Given the description of an element on the screen output the (x, y) to click on. 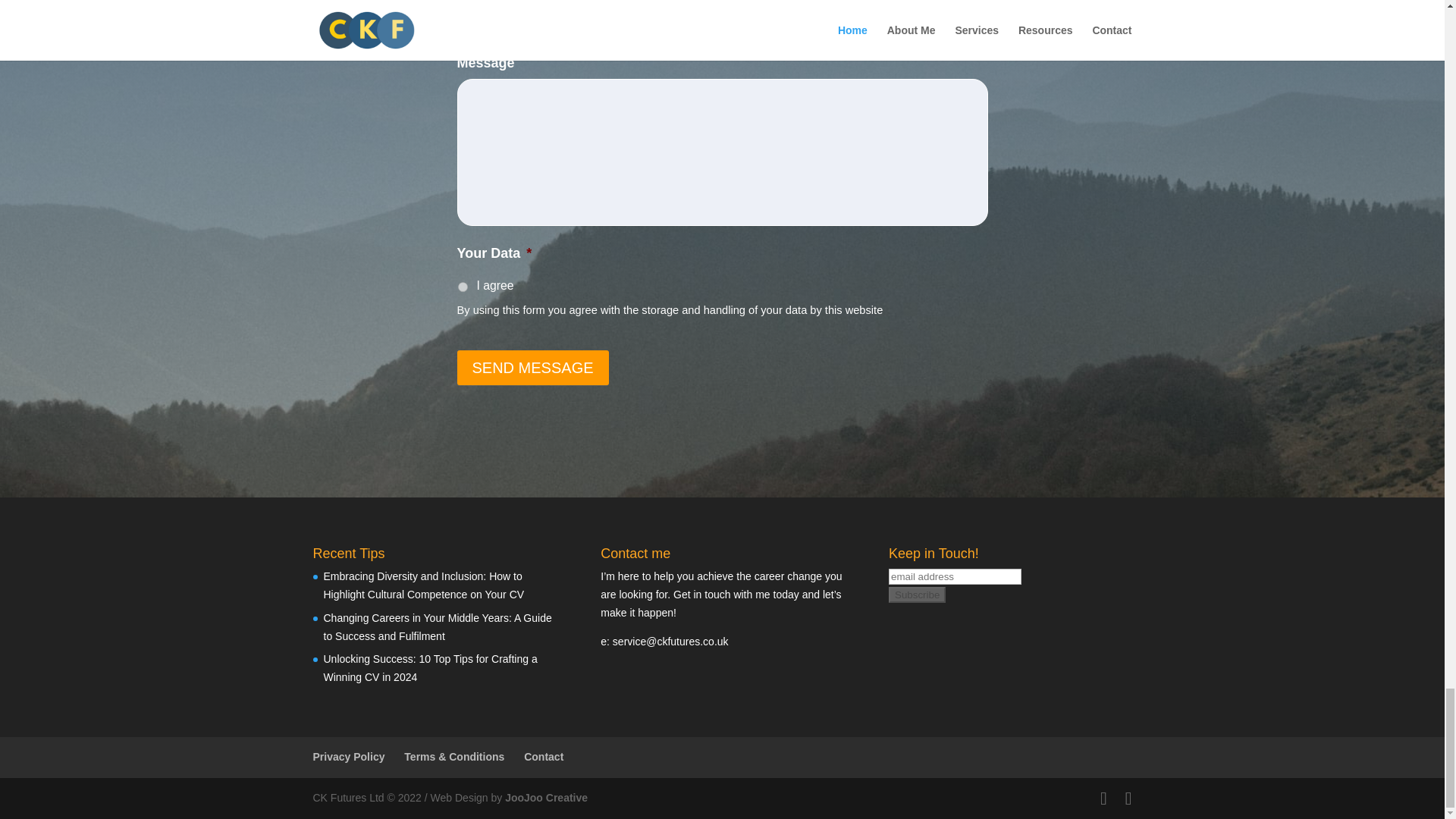
Subscribe (916, 594)
Get in Touch (670, 641)
Contact (543, 756)
I agree (462, 286)
Subscribe (916, 594)
Privacy Policy (348, 756)
SEND MESSAGE (532, 367)
